Given the description of an element on the screen output the (x, y) to click on. 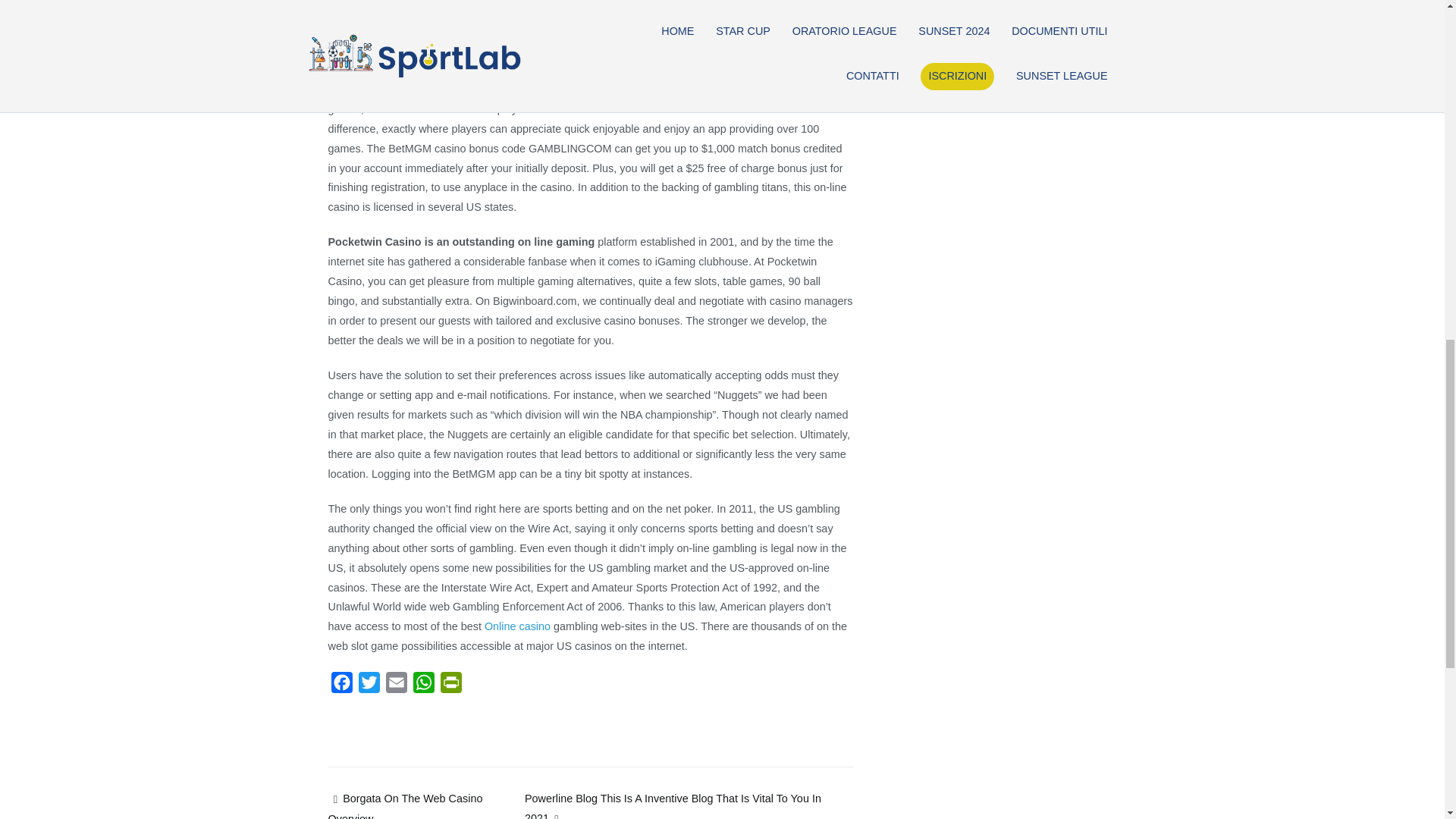
Twitter (368, 685)
WhatsApp (422, 685)
PrintFriendly (450, 685)
WhatsApp (422, 685)
Facebook (341, 685)
Facebook (341, 685)
Twitter (368, 685)
Email (395, 685)
Borgata On The Web Casino Overview (404, 805)
Email (395, 685)
PrintFriendly (450, 685)
Online casino (517, 625)
